Given the description of an element on the screen output the (x, y) to click on. 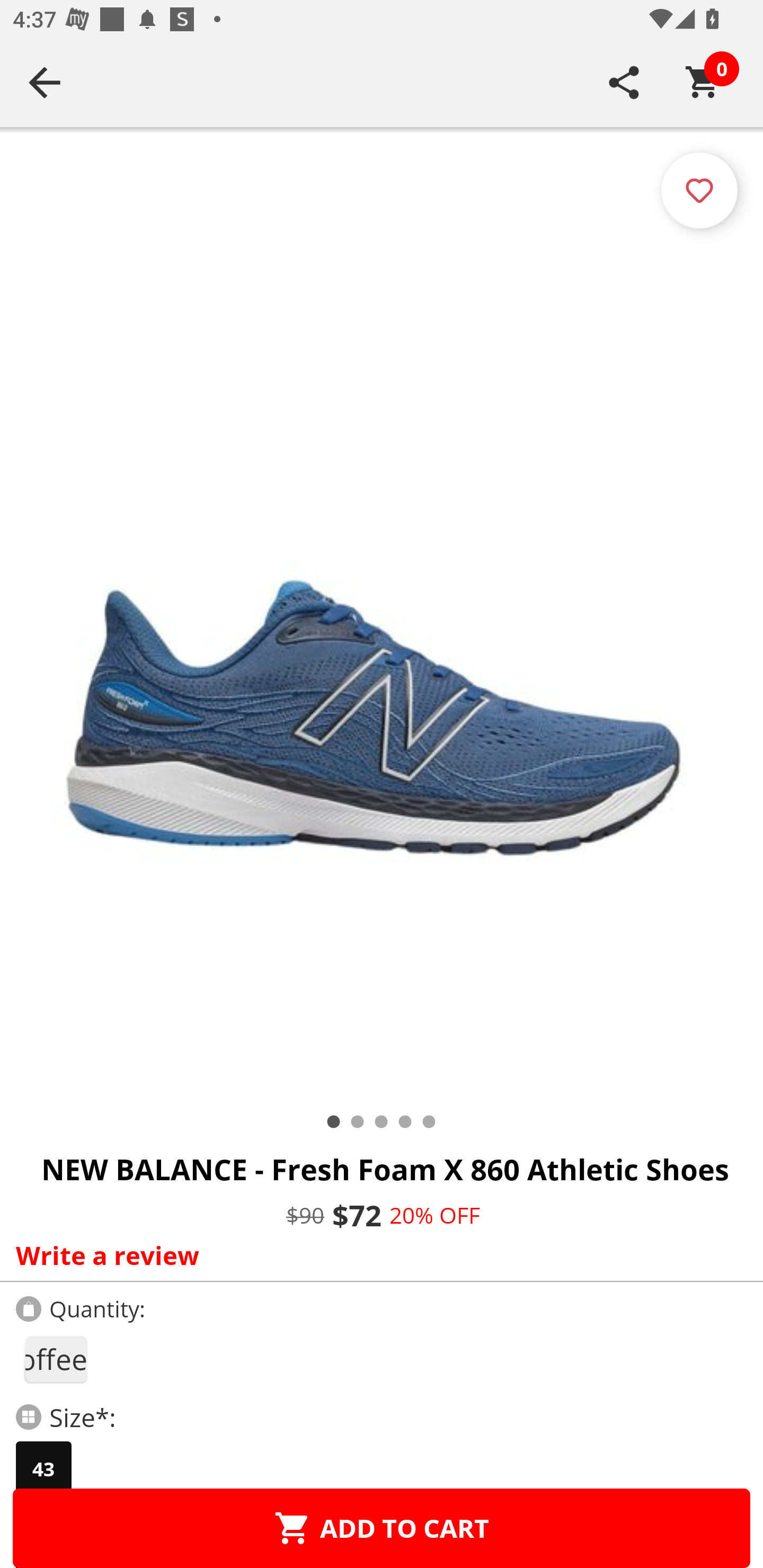
Navigate up (44, 82)
SHARE (623, 82)
Cart (703, 81)
Write a review (377, 1255)
1toothbrushcoffee (55, 1358)
43 (43, 1468)
ADD TO CART (381, 1528)
